Given the description of an element on the screen output the (x, y) to click on. 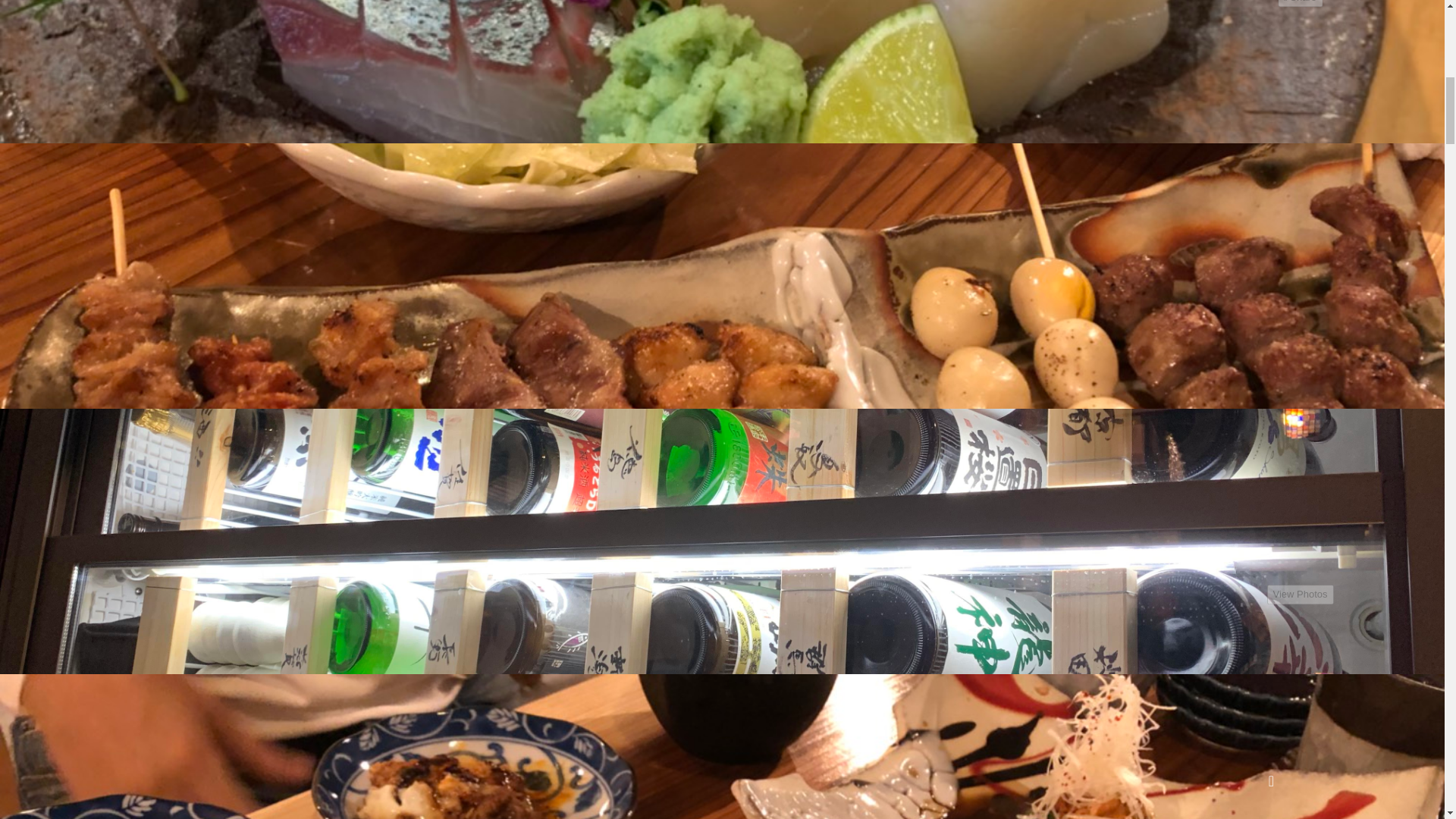
View Photos (1299, 595)
Share (1300, 3)
